Given the description of an element on the screen output the (x, y) to click on. 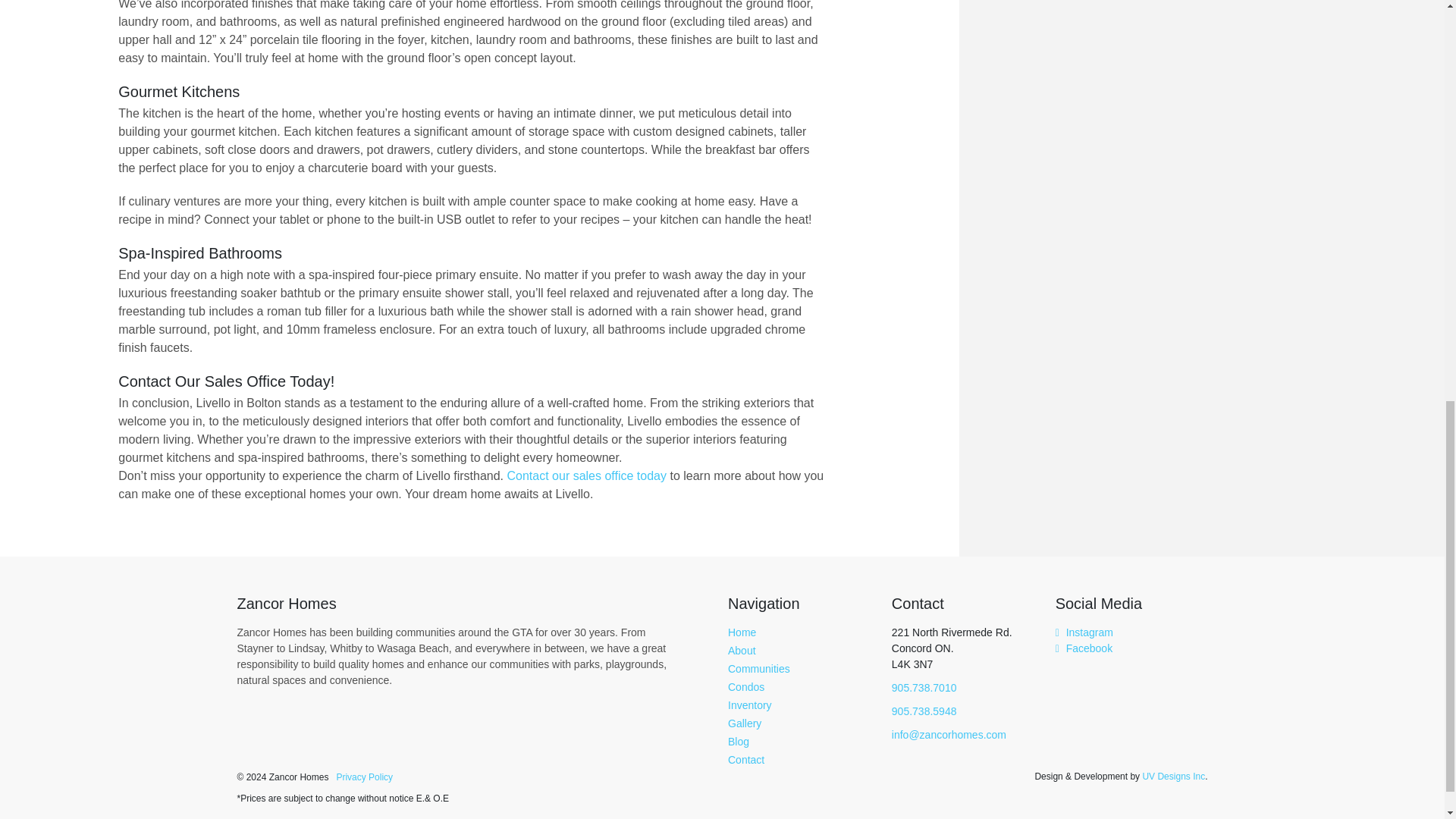
Contact our sales office today (586, 474)
Communities (759, 668)
Web Design Toronto (1173, 775)
Gallery (744, 723)
Contact (746, 759)
Home (741, 632)
Inventory (749, 705)
Blog (738, 741)
Condos (746, 686)
About (741, 650)
